Given the description of an element on the screen output the (x, y) to click on. 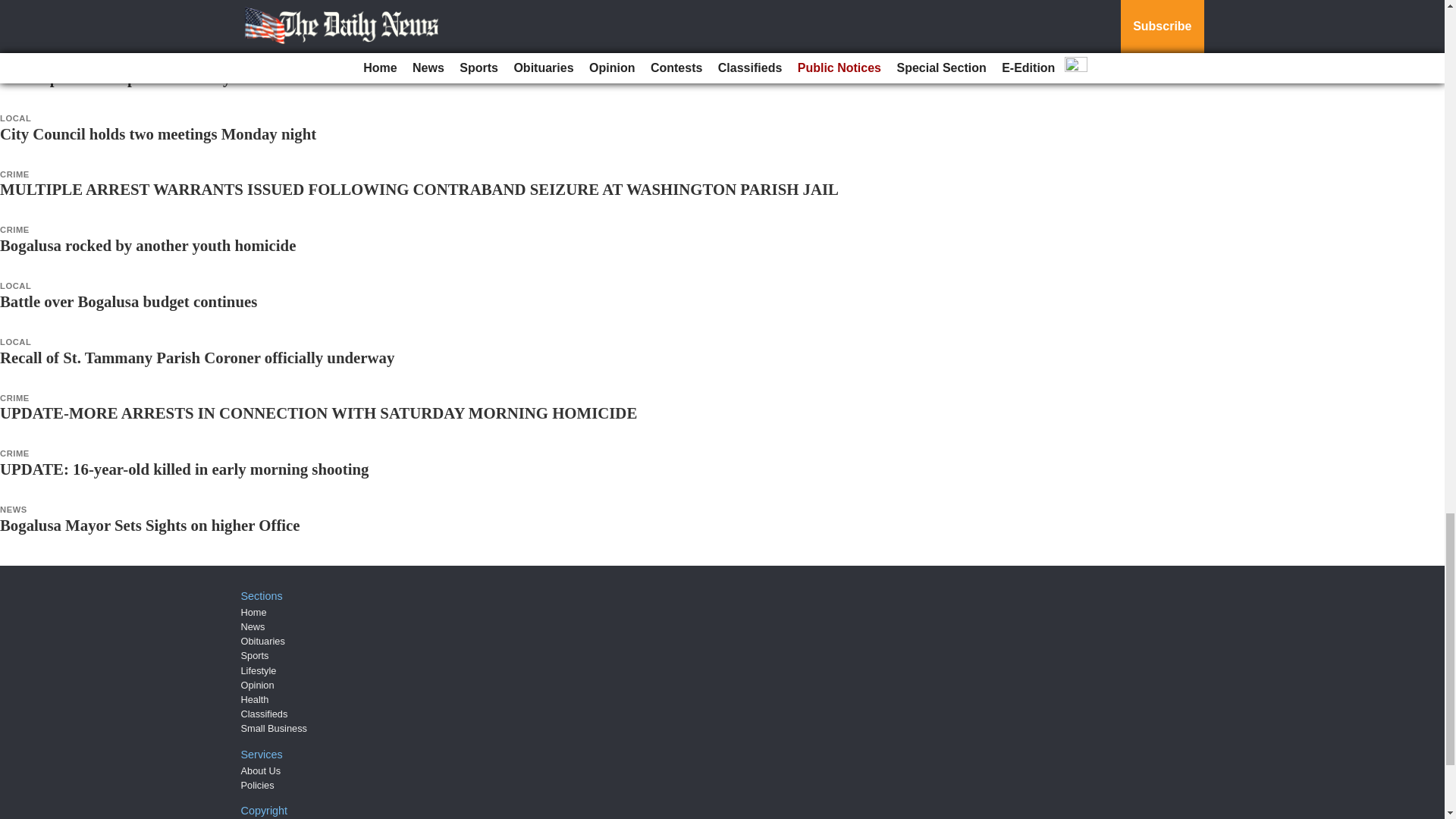
Team up to clean up this Saturday (115, 77)
City Council holds two meetings Monday night (157, 133)
Starting a new era for the Bogalusa Daily News (158, 21)
Bogalusa rocked by another youth homicide (147, 244)
Team up to clean up this Saturday (115, 77)
Starting a new era for the Bogalusa Daily News (158, 21)
City Council holds two meetings Monday night (157, 133)
